Given the description of an element on the screen output the (x, y) to click on. 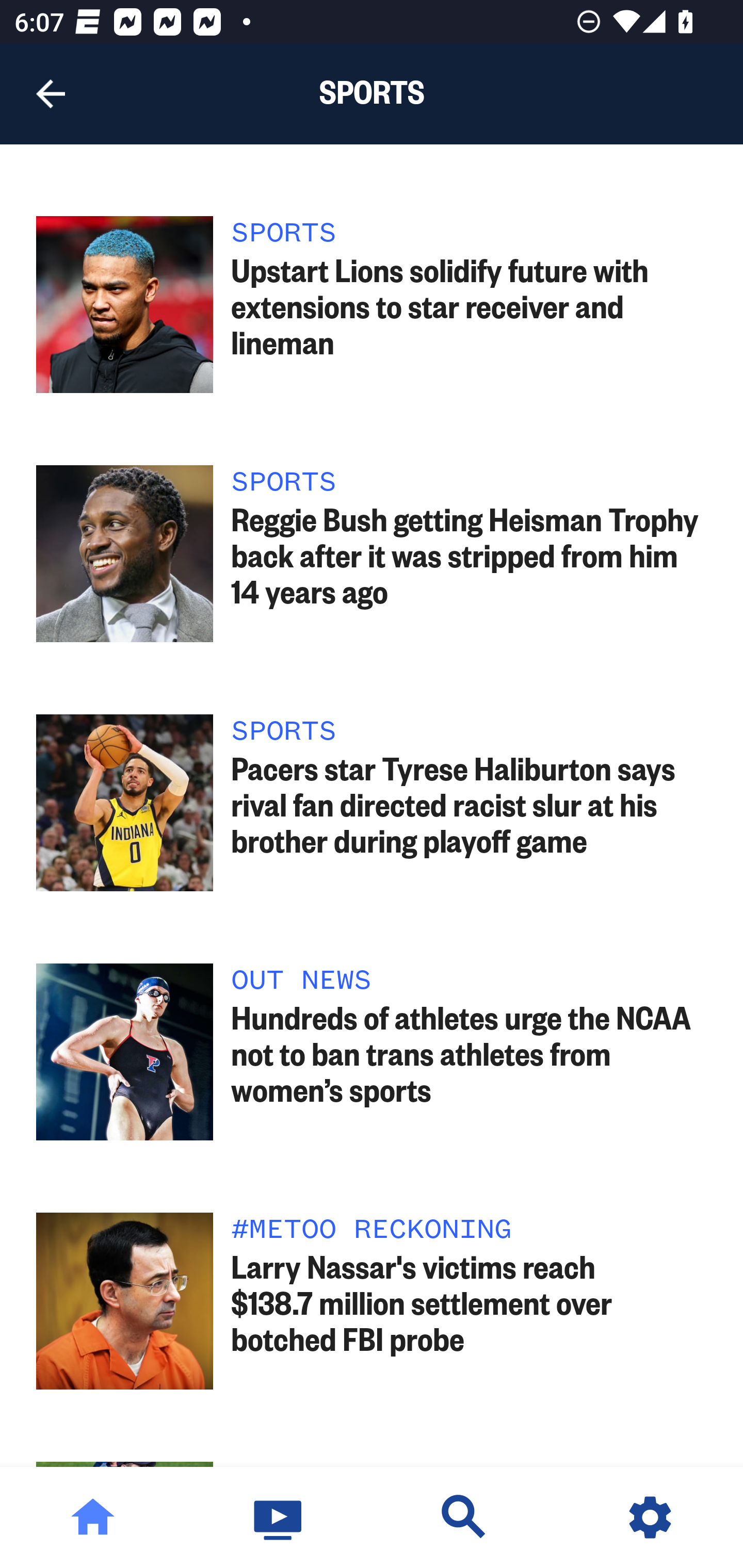
Navigate up (50, 93)
Watch (278, 1517)
Discover (464, 1517)
Settings (650, 1517)
